Given the description of an element on the screen output the (x, y) to click on. 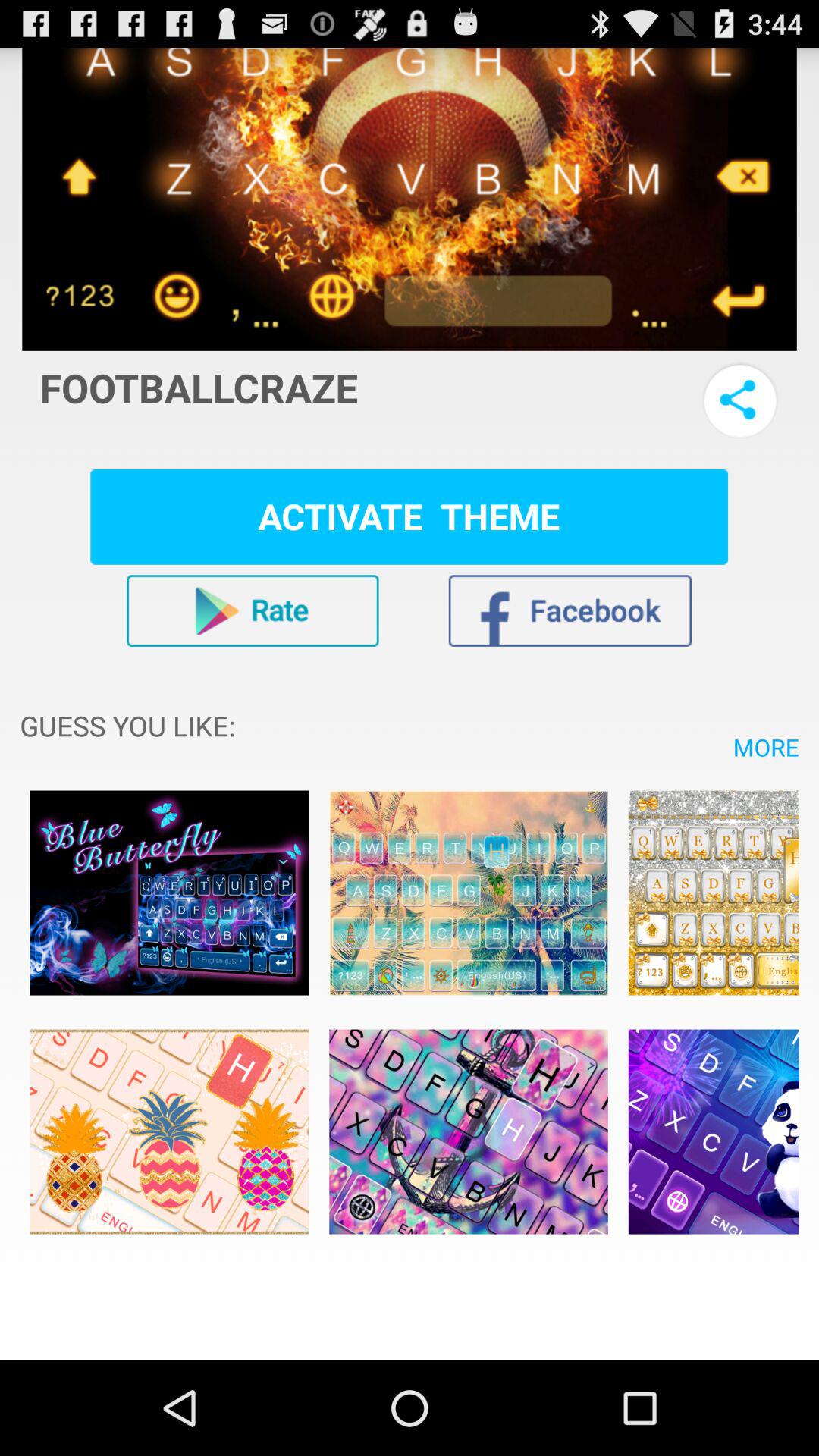
facebook (569, 610)
